Given the description of an element on the screen output the (x, y) to click on. 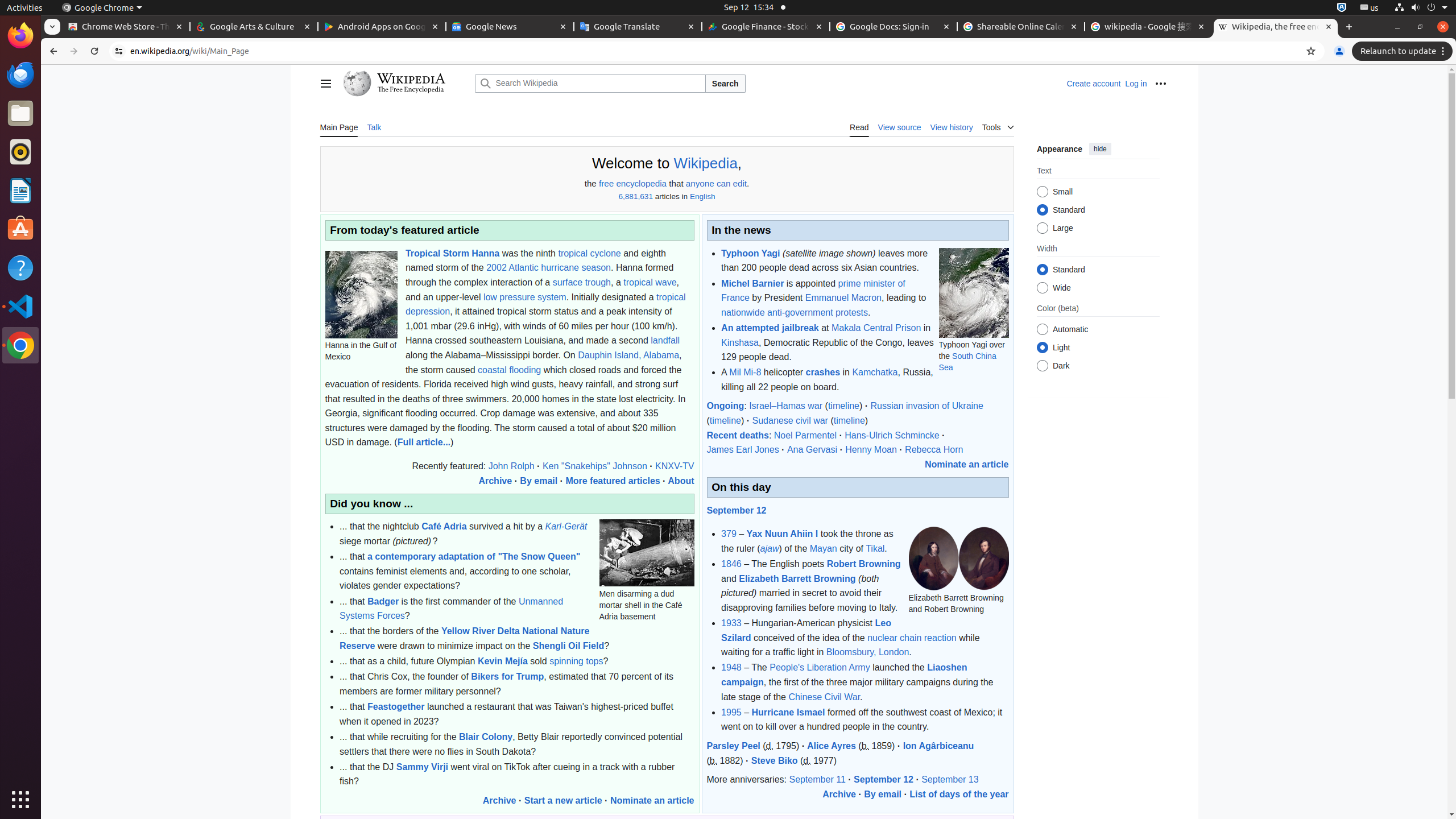
Elizabeth Barrett Browning Element type: link (796, 578)
Thunderbird Mail Element type: push-button (20, 74)
Show Applications Element type: toggle-button (20, 799)
1995 Element type: link (731, 711)
Henny Moan Element type: link (870, 449)
